Given the description of an element on the screen output the (x, y) to click on. 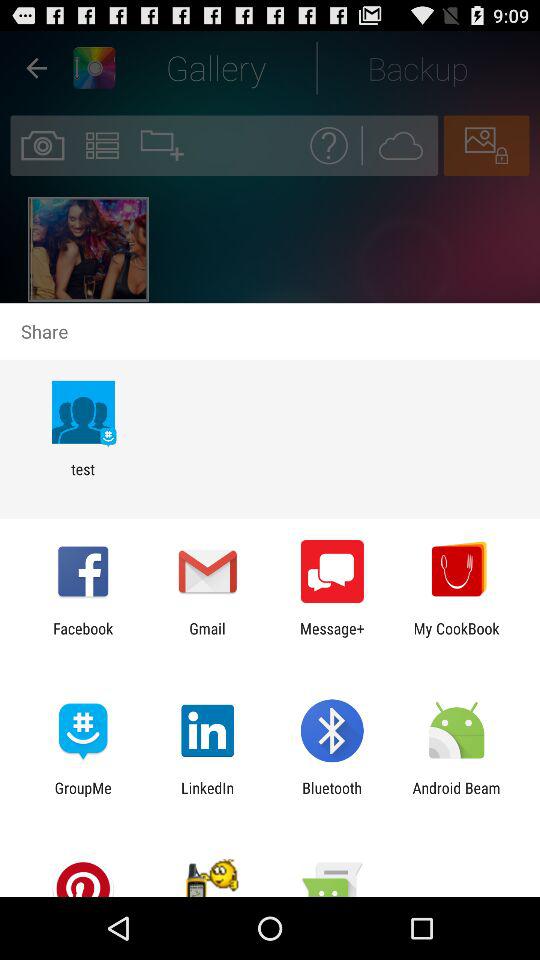
flip to the android beam icon (456, 796)
